Given the description of an element on the screen output the (x, y) to click on. 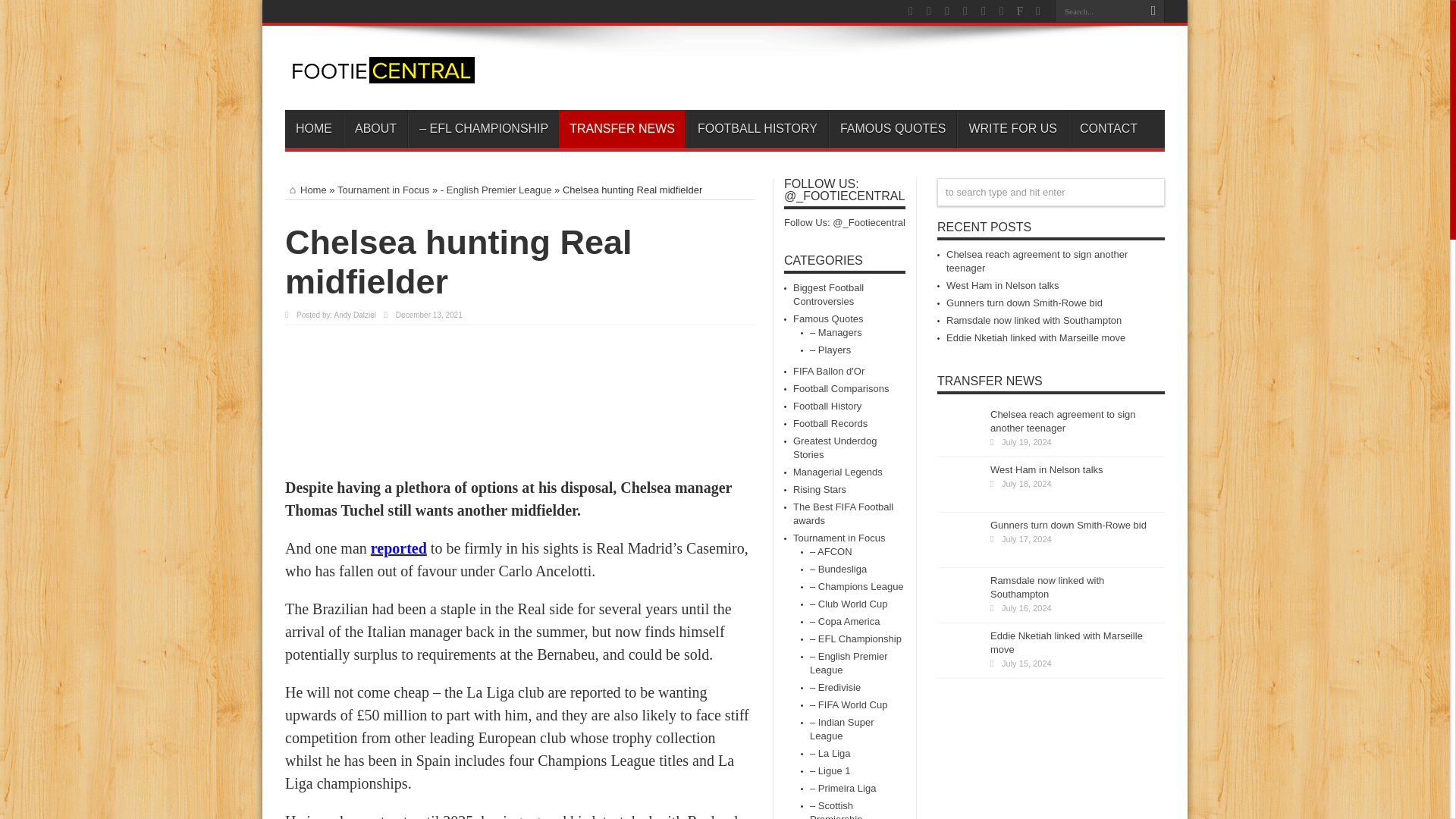
FAMOUS QUOTES (892, 128)
Search... (1097, 11)
CONTACT (1108, 128)
ABOUT (375, 128)
Andy Dalziel (354, 315)
TRANSFER NEWS (622, 128)
Search (1152, 11)
reported (398, 547)
HOME (313, 128)
- English Premier League (496, 189)
to search type and hit enter (1050, 192)
Tournament in Focus (383, 189)
WRITE FOR US (1011, 128)
Home (305, 189)
FOOTBALL HISTORY (756, 128)
